Given the description of an element on the screen output the (x, y) to click on. 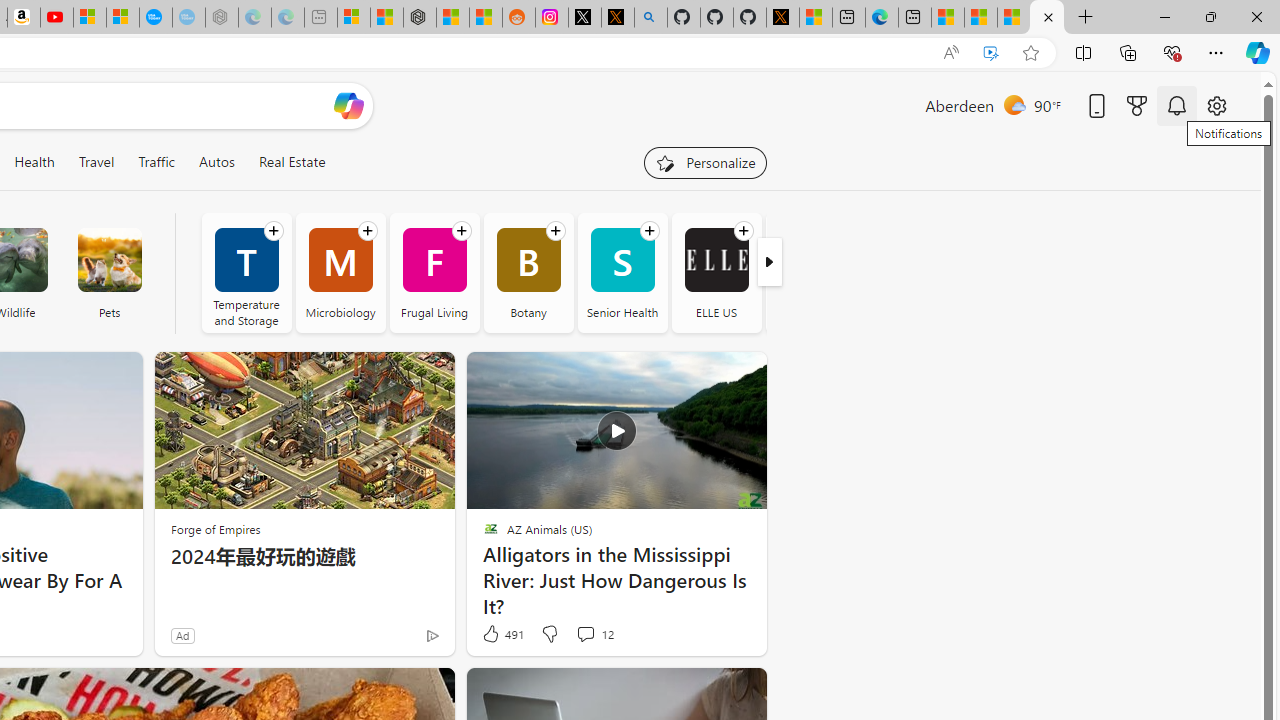
View comments 12 Comment (594, 633)
ELLE US (715, 260)
Opinion: Op-Ed and Commentary - USA TODAY (155, 17)
Autos (216, 162)
X Privacy Policy (782, 17)
